Given the description of an element on the screen output the (x, y) to click on. 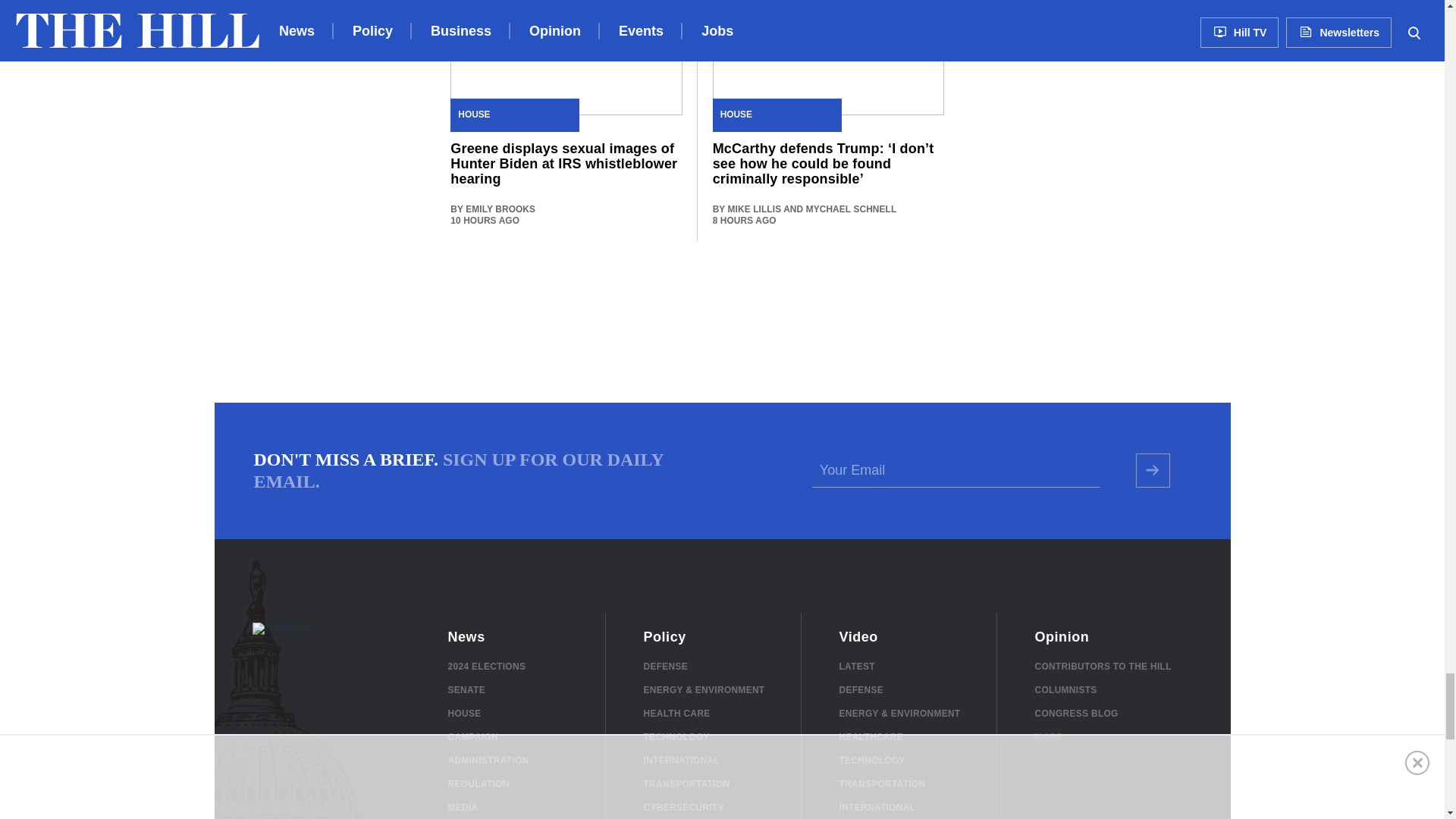
3rd party ad content (721, 318)
Send (1152, 470)
